Given the description of an element on the screen output the (x, y) to click on. 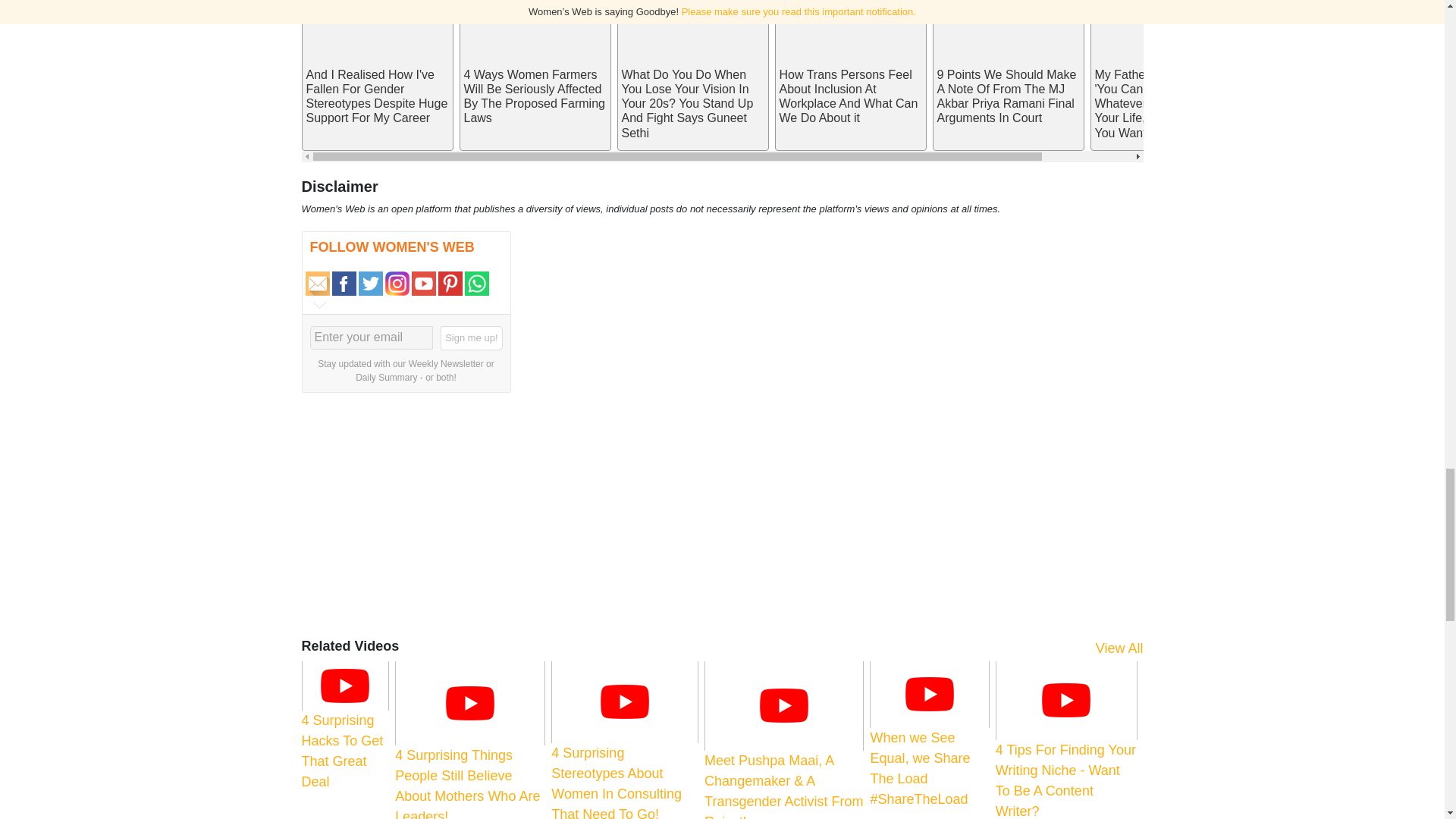
Sign me up! (471, 337)
